Given the description of an element on the screen output the (x, y) to click on. 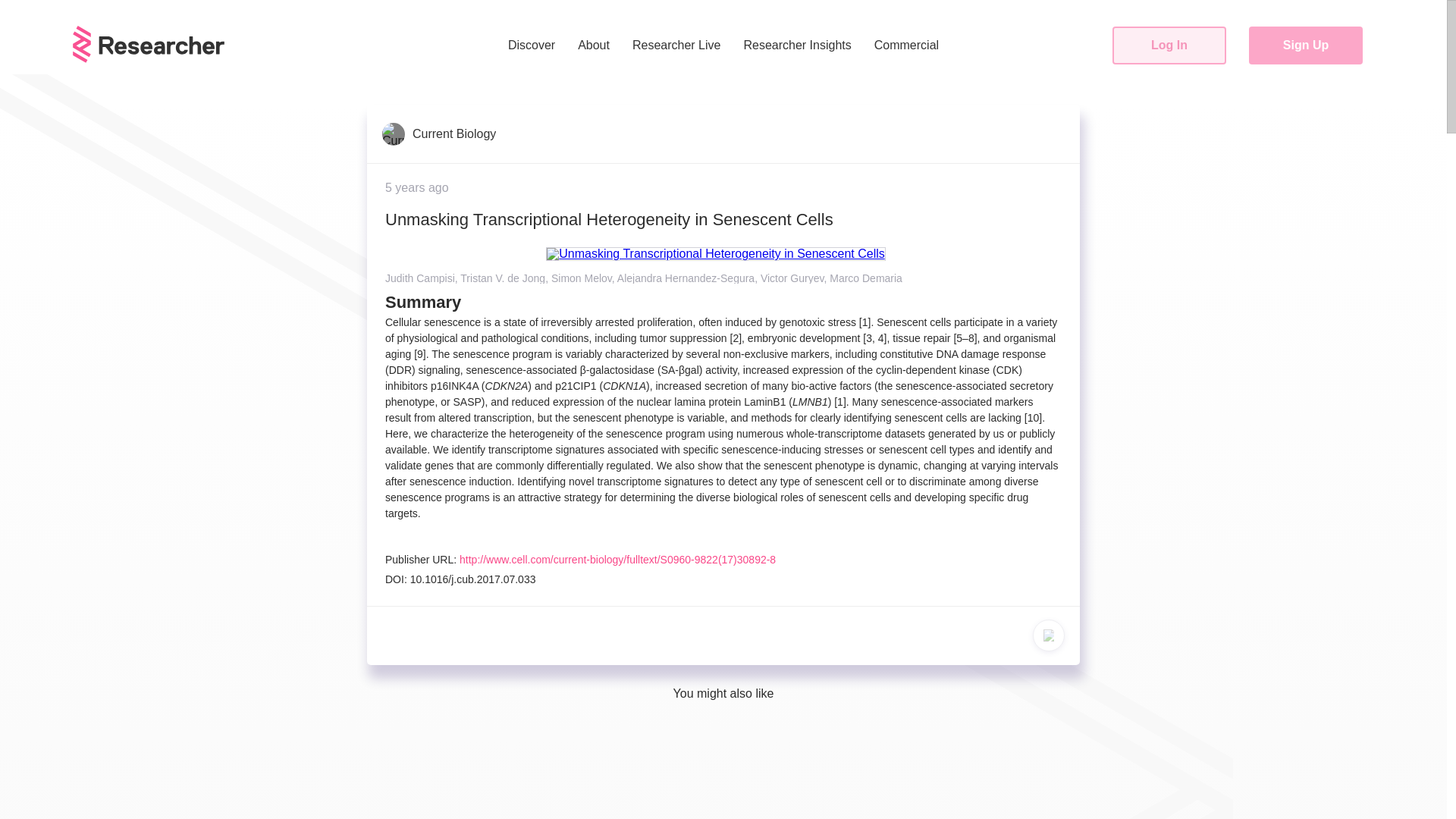
Log In (1168, 45)
Researcher: Home (148, 58)
Researcher: Home (148, 44)
Researcher Insights (797, 44)
About (593, 44)
Discover (531, 44)
Log In (1168, 45)
Current Biology (438, 134)
Sign Up (1305, 45)
Sign Up (1305, 45)
Researcher Live (676, 44)
Commercial (906, 44)
